Given the description of an element on the screen output the (x, y) to click on. 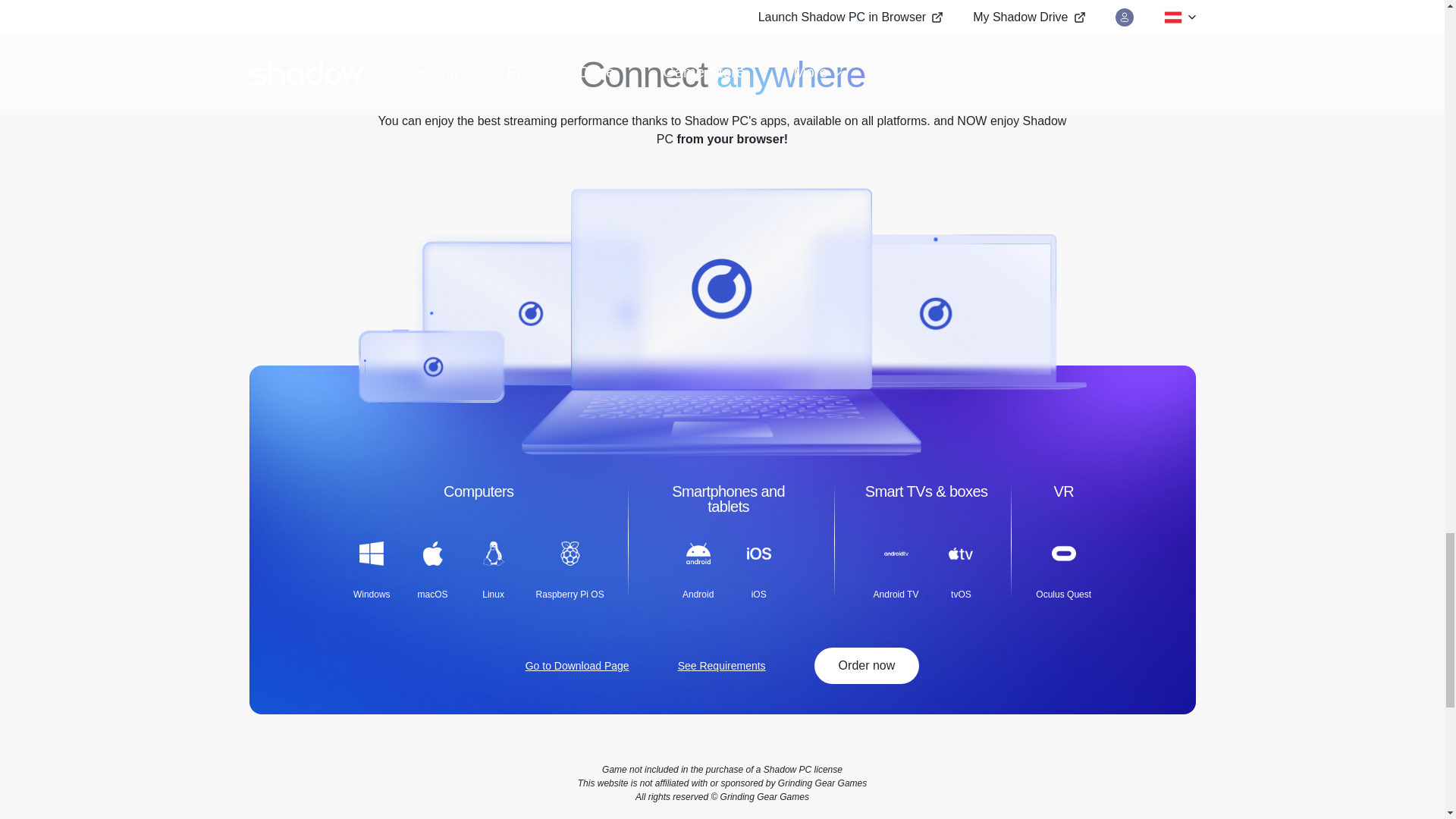
Go to Download Page (576, 666)
See Requirements (721, 666)
Order now (866, 665)
